Given the description of an element on the screen output the (x, y) to click on. 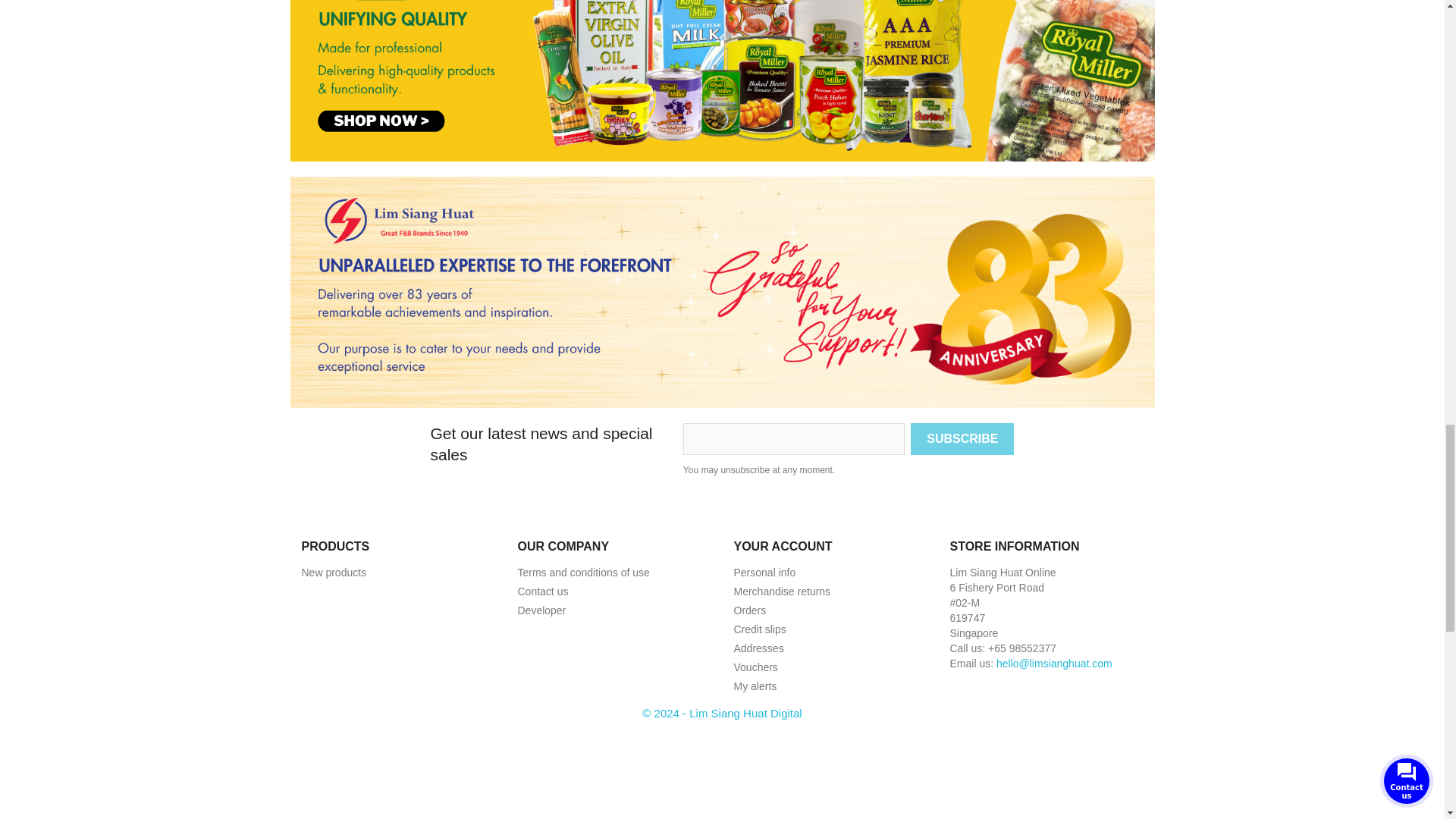
Use our form to contact us (541, 591)
Orders (750, 610)
Vouchers (755, 666)
Our terms and conditions of use (582, 572)
Credit slips (759, 629)
Merchandise returns (782, 591)
My alerts (755, 686)
Our new products (333, 572)
Subscribe (962, 439)
Personal info (764, 572)
